Given the description of an element on the screen output the (x, y) to click on. 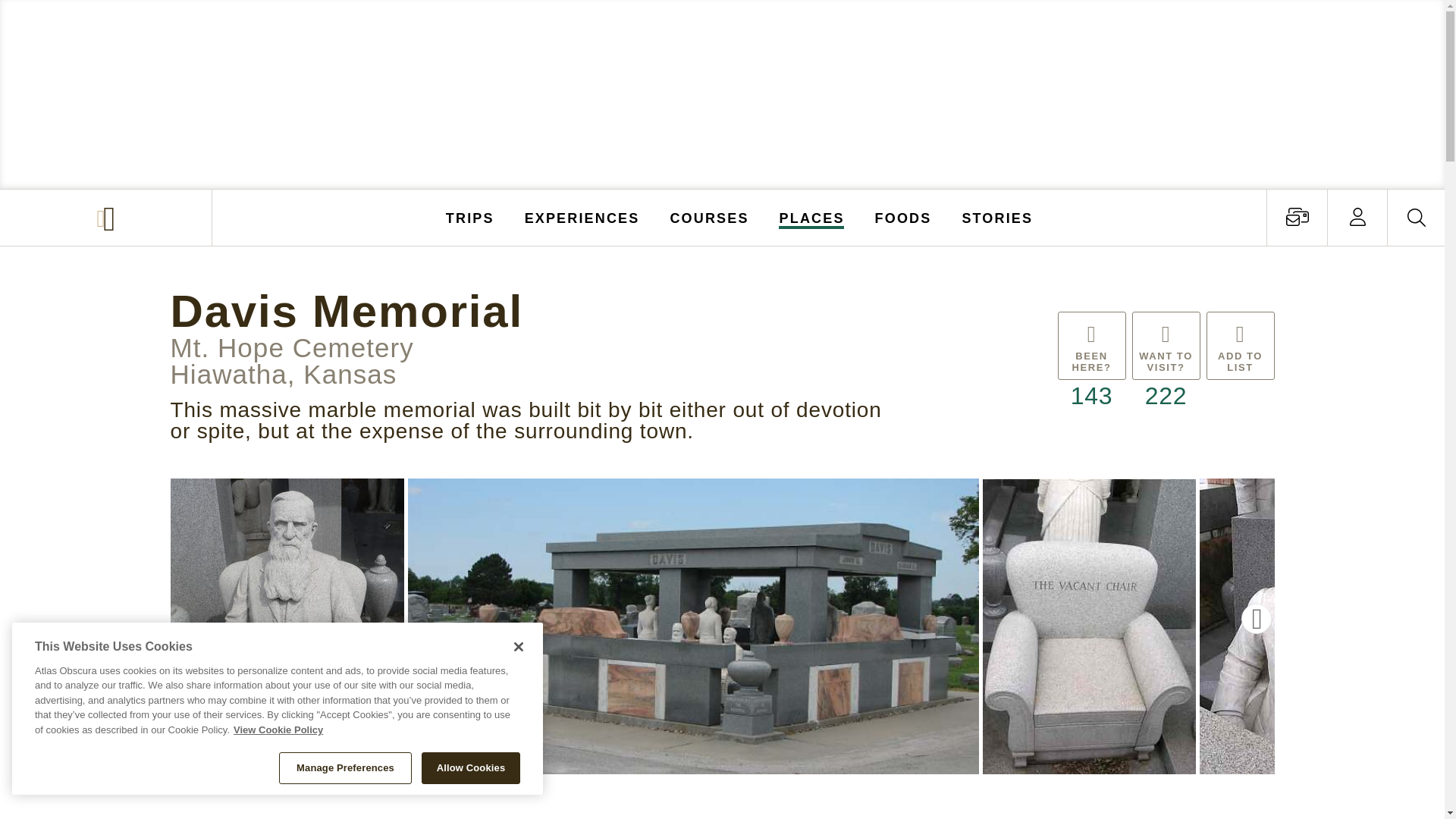
Add to list (1239, 362)
EXPERIENCES (582, 217)
PLACES (812, 217)
TRIPS (469, 217)
COURSES (707, 217)
